Given the description of an element on the screen output the (x, y) to click on. 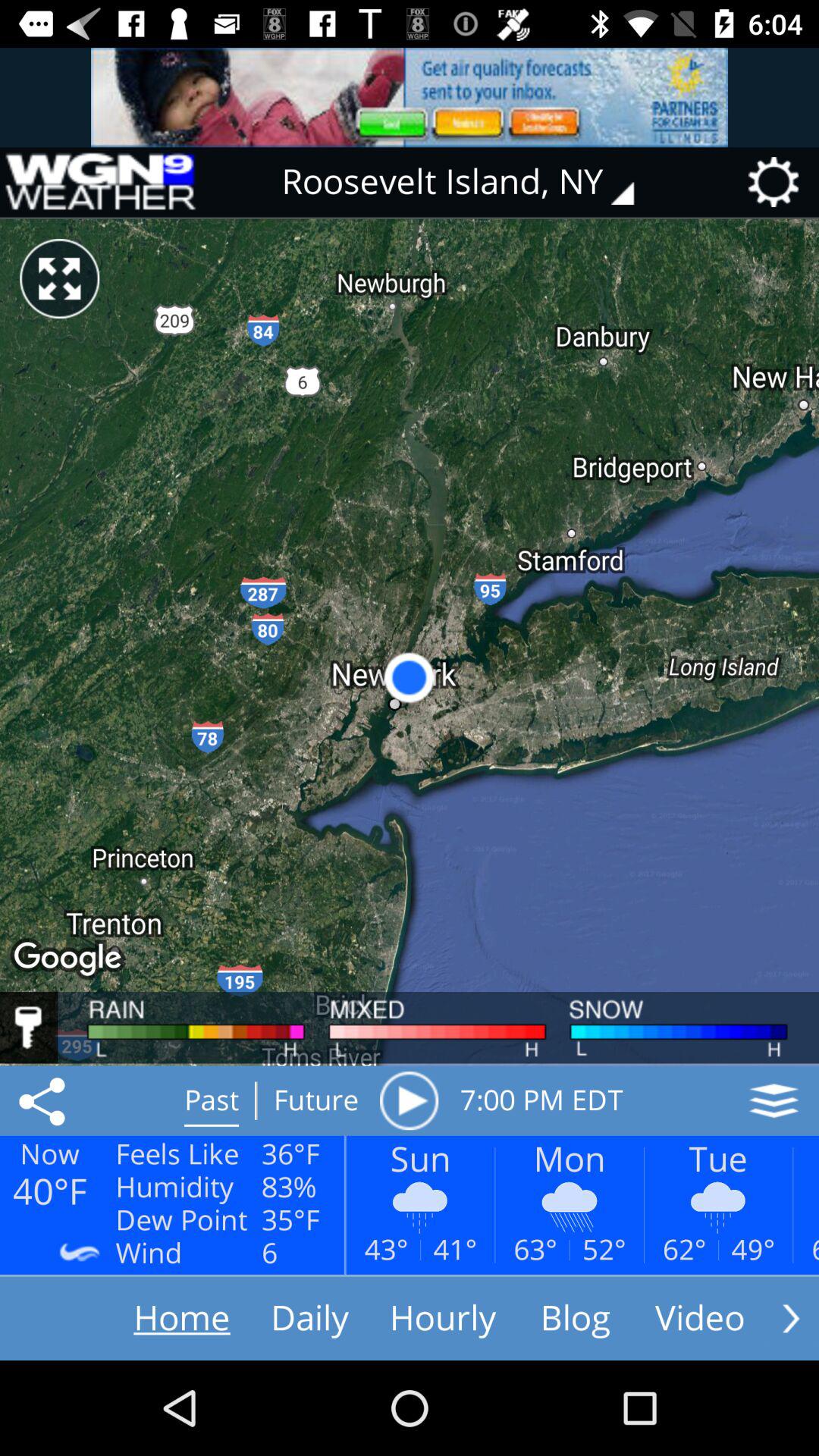
choose the item to the left of 7 00 pm icon (409, 1100)
